Given the description of an element on the screen output the (x, y) to click on. 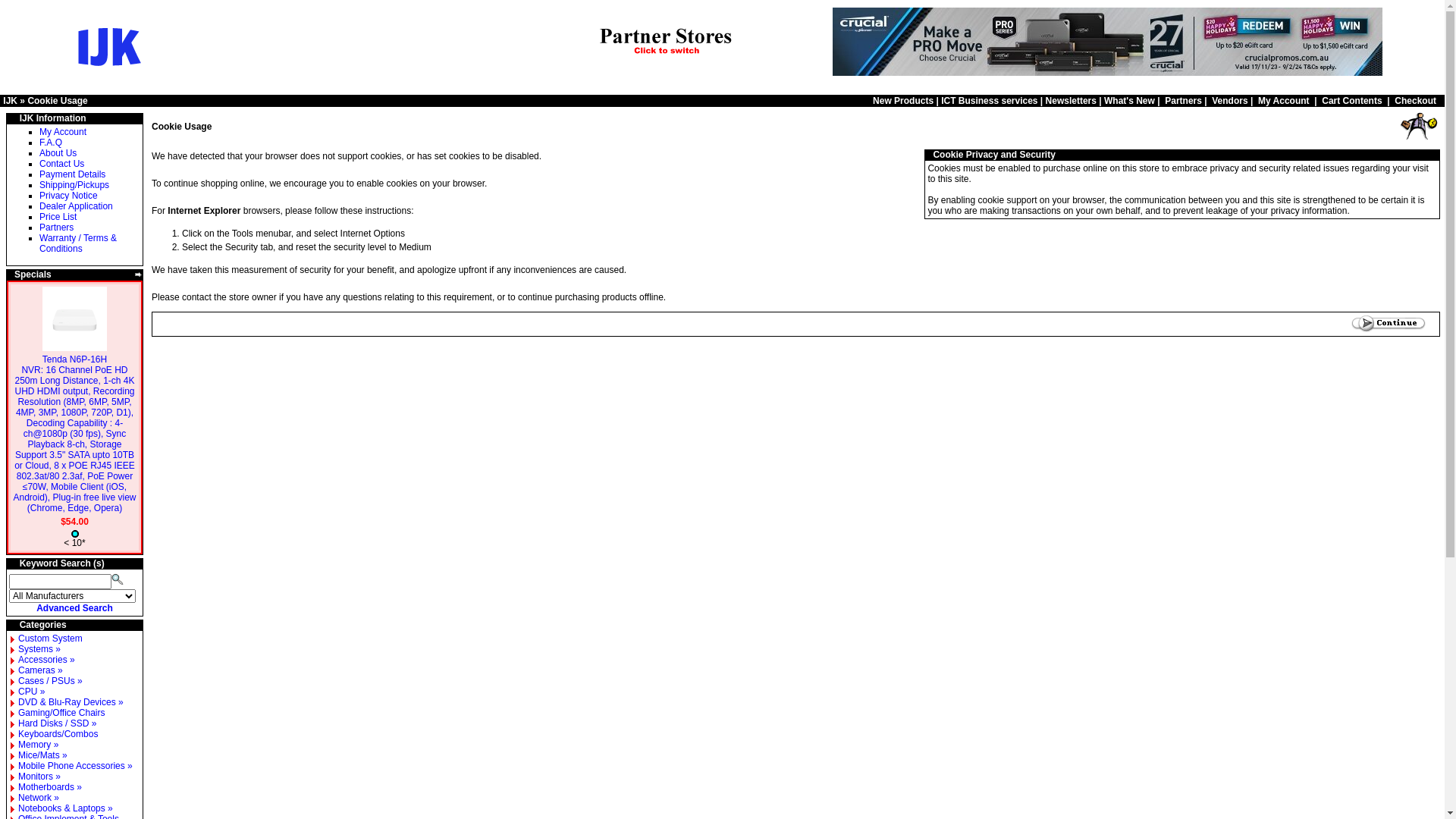
Gaming/Office Chairs Element type: text (61, 712)
Keyboards/Combos Element type: text (57, 733)
About Us Element type: text (57, 152)
Dealer Application Element type: text (75, 205)
Vendors Element type: text (1229, 100)
   Element type: hover (1435, 154)
   Element type: hover (10, 624)
New Products Element type: text (902, 100)
IJK Element type: text (10, 100)
   Element type: hover (928, 154)
What's New Element type: text (1129, 100)
   Element type: hover (10, 563)
Specials Element type: text (32, 274)
Custom System Element type: text (50, 638)
Partners Element type: text (1182, 100)
Cart Contents Element type: text (1351, 100)
 Medium stock level  Element type: hover (74, 533)
Price List Element type: text (57, 216)
 Search  Element type: hover (118, 577)
F.A.Q Element type: text (50, 142)
Contact Us Element type: text (61, 163)
ICT Business services Element type: text (989, 100)
My Account Element type: text (62, 131)
Cookie Usage Element type: text (57, 100)
   Element type: hover (10, 274)
Newsletters Element type: text (1070, 100)
   Element type: hover (10, 117)
Shipping/Pickups Element type: text (74, 184)
Warranty / Terms & Conditions Element type: text (77, 243)
My Account Element type: text (1283, 100)
Partners Element type: text (56, 227)
Privacy Notice Element type: text (68, 195)
 Cookie Usage  Element type: hover (1418, 126)
Checkout Element type: text (1415, 100)
 Continue  Element type: hover (1388, 323)
 More...  Element type: hover (138, 274)
Advanced Search Element type: text (74, 607)
Payment Details Element type: text (72, 174)
